Given the description of an element on the screen output the (x, y) to click on. 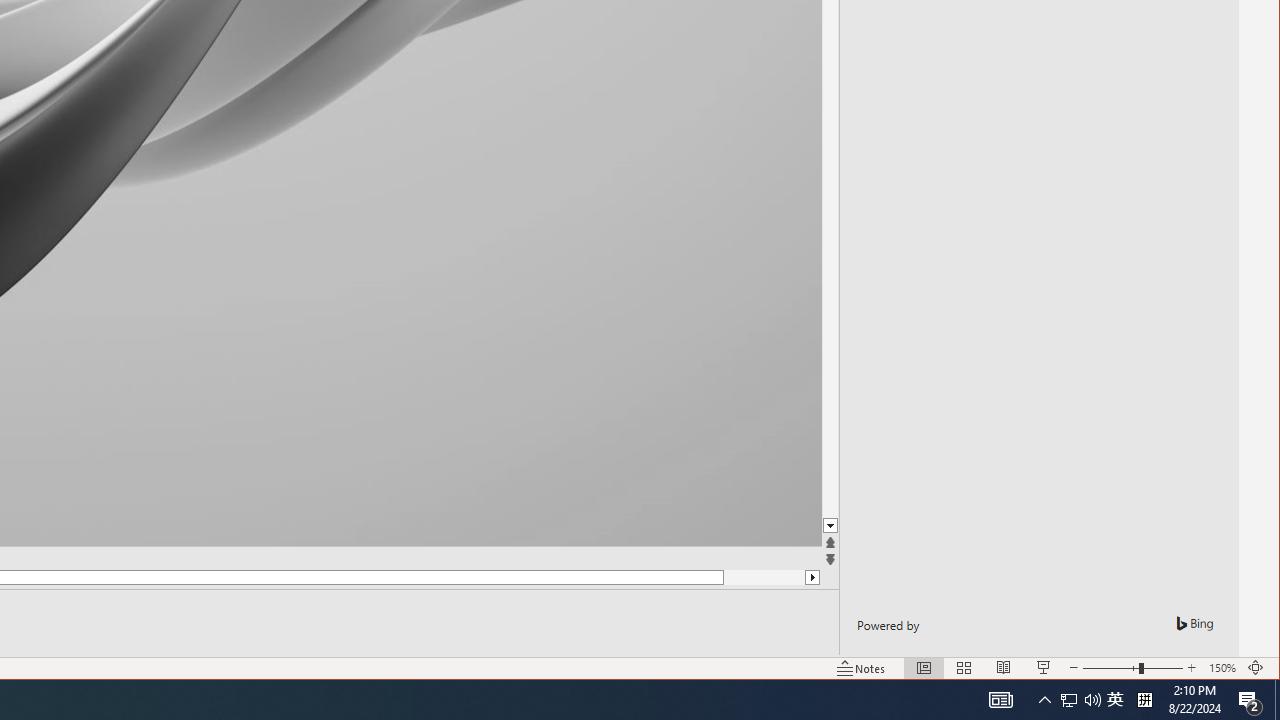
Zoom 150% (1222, 668)
